Given the description of an element on the screen output the (x, y) to click on. 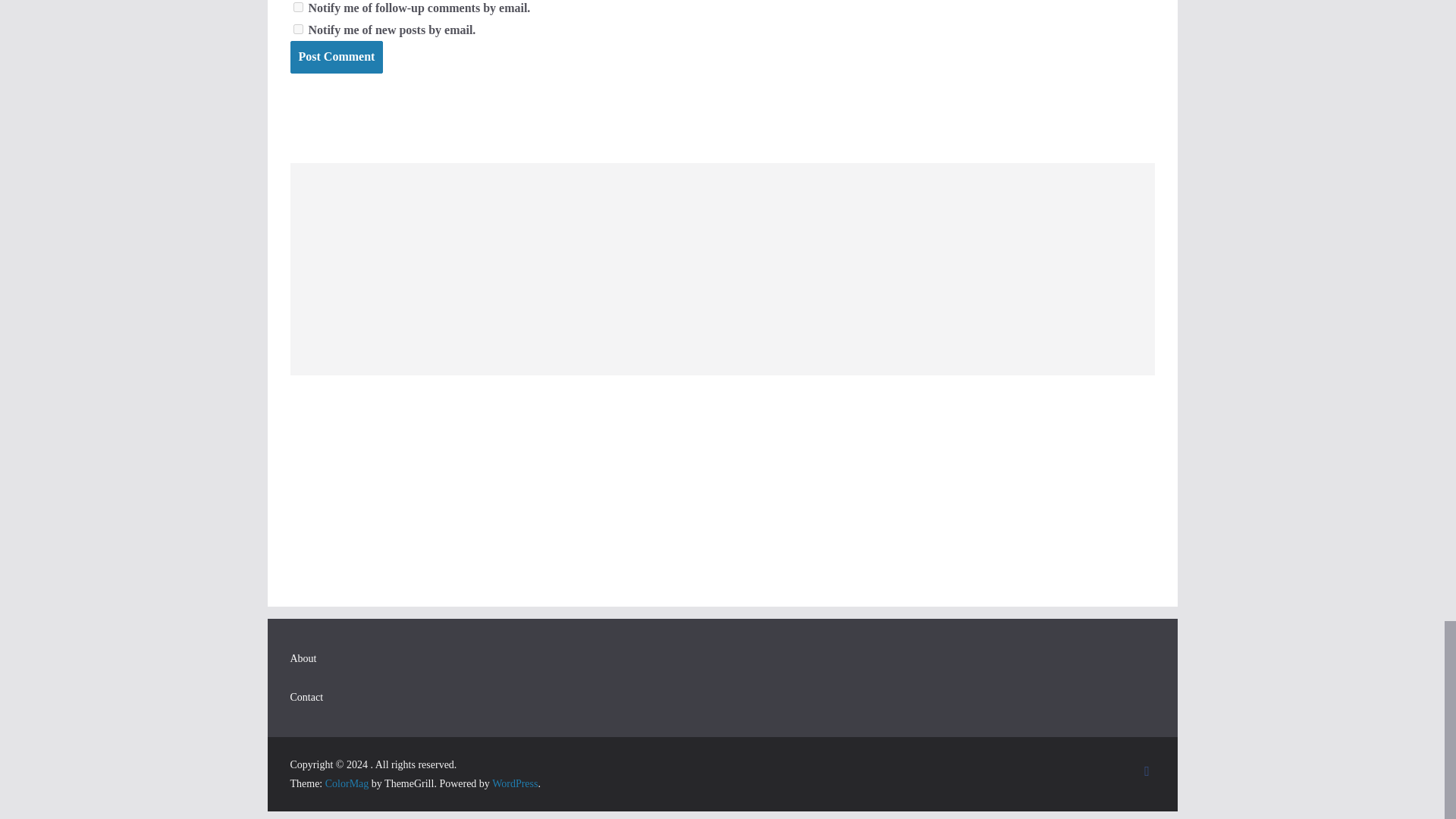
Post Comment (335, 56)
subscribe (297, 28)
subscribe (297, 7)
